Given the description of an element on the screen output the (x, y) to click on. 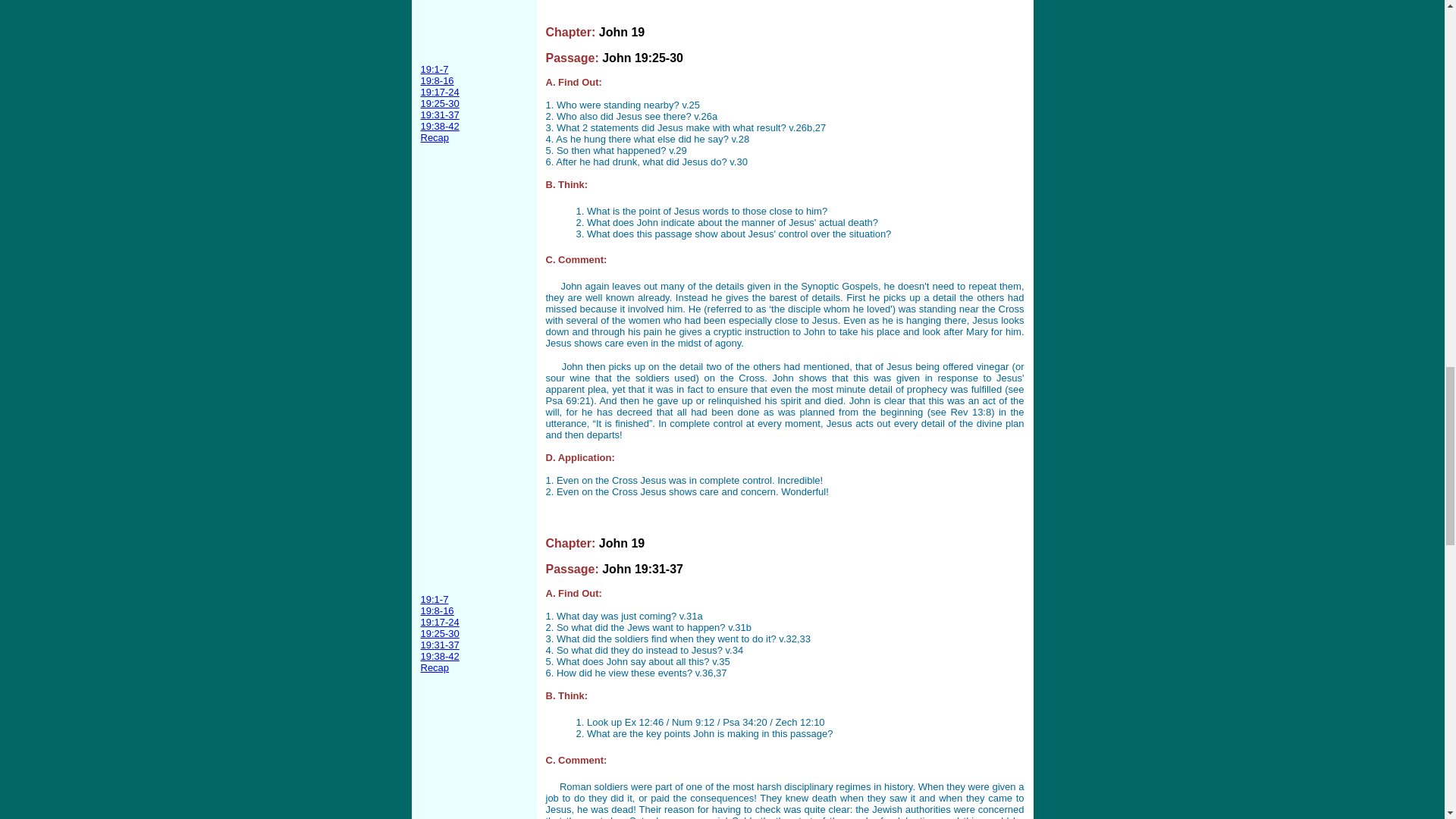
19:1-7 (434, 69)
19:25-30 (439, 633)
19:8-16 (436, 80)
19:31-37 (439, 644)
19:38-42 (439, 125)
Recap (434, 667)
19:31-37 (439, 114)
19:8-16 (436, 610)
19:17-24 (439, 622)
19:17-24 (439, 91)
